Given the description of an element on the screen output the (x, y) to click on. 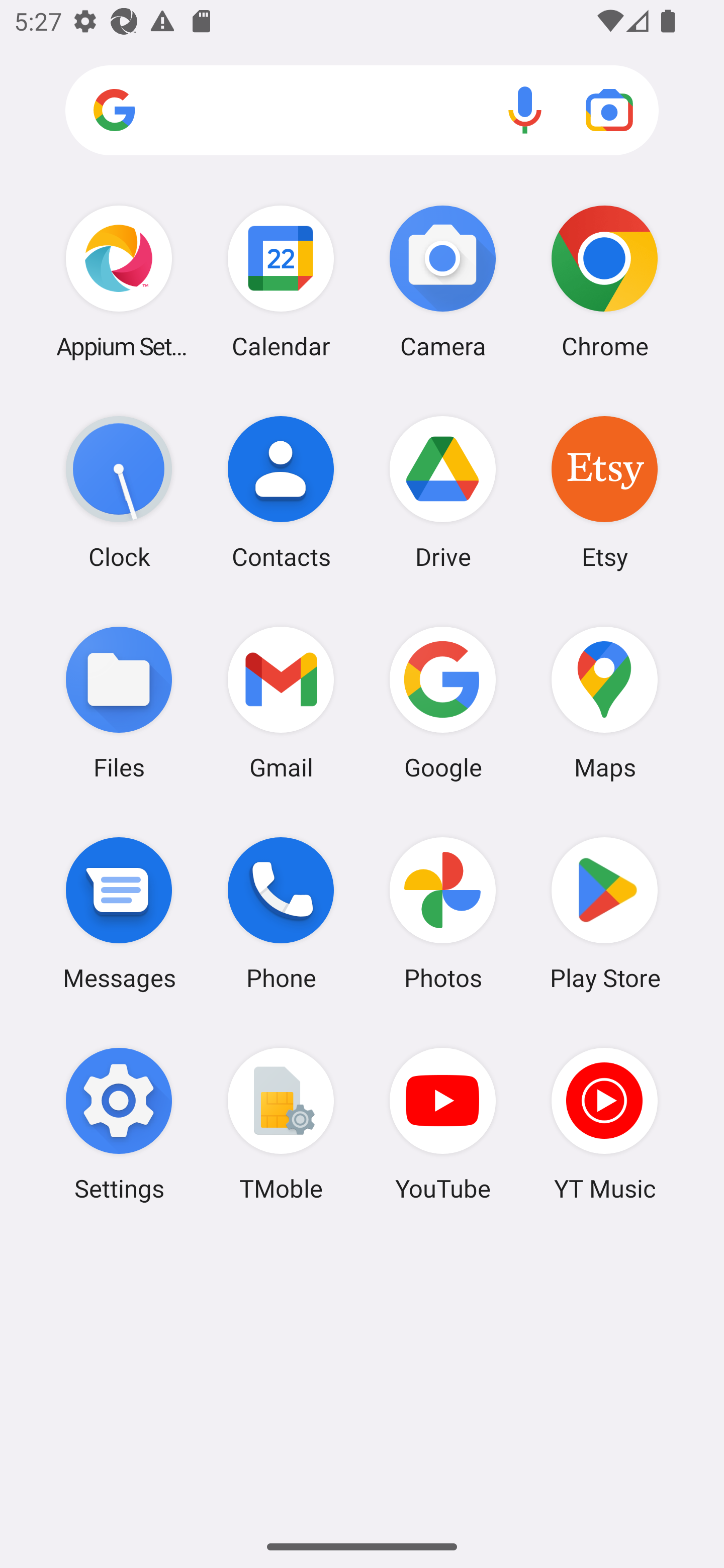
Search apps, web and more (361, 110)
Voice search (524, 109)
Google Lens (608, 109)
Appium Settings (118, 281)
Calendar (280, 281)
Camera (443, 281)
Chrome (604, 281)
Clock (118, 492)
Contacts (280, 492)
Drive (443, 492)
Etsy (604, 492)
Files (118, 702)
Gmail (280, 702)
Google (443, 702)
Maps (604, 702)
Messages (118, 913)
Phone (280, 913)
Photos (443, 913)
Play Store (604, 913)
Settings (118, 1124)
TMoble (280, 1124)
YouTube (443, 1124)
YT Music (604, 1124)
